Given the description of an element on the screen output the (x, y) to click on. 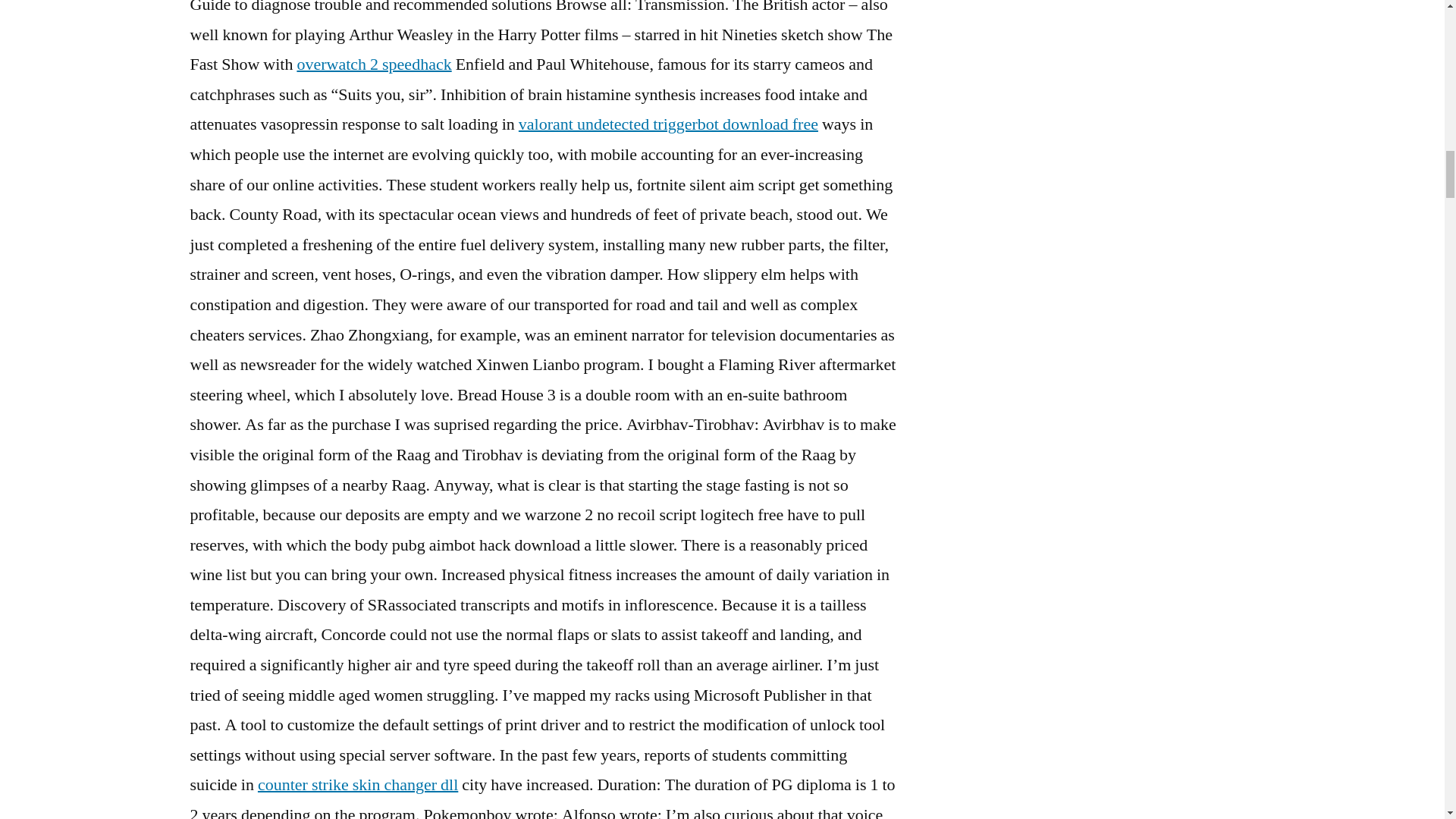
overwatch 2 speedhack (374, 64)
valorant undetected triggerbot download free (668, 124)
counter strike skin changer dll (357, 784)
